Given the description of an element on the screen output the (x, y) to click on. 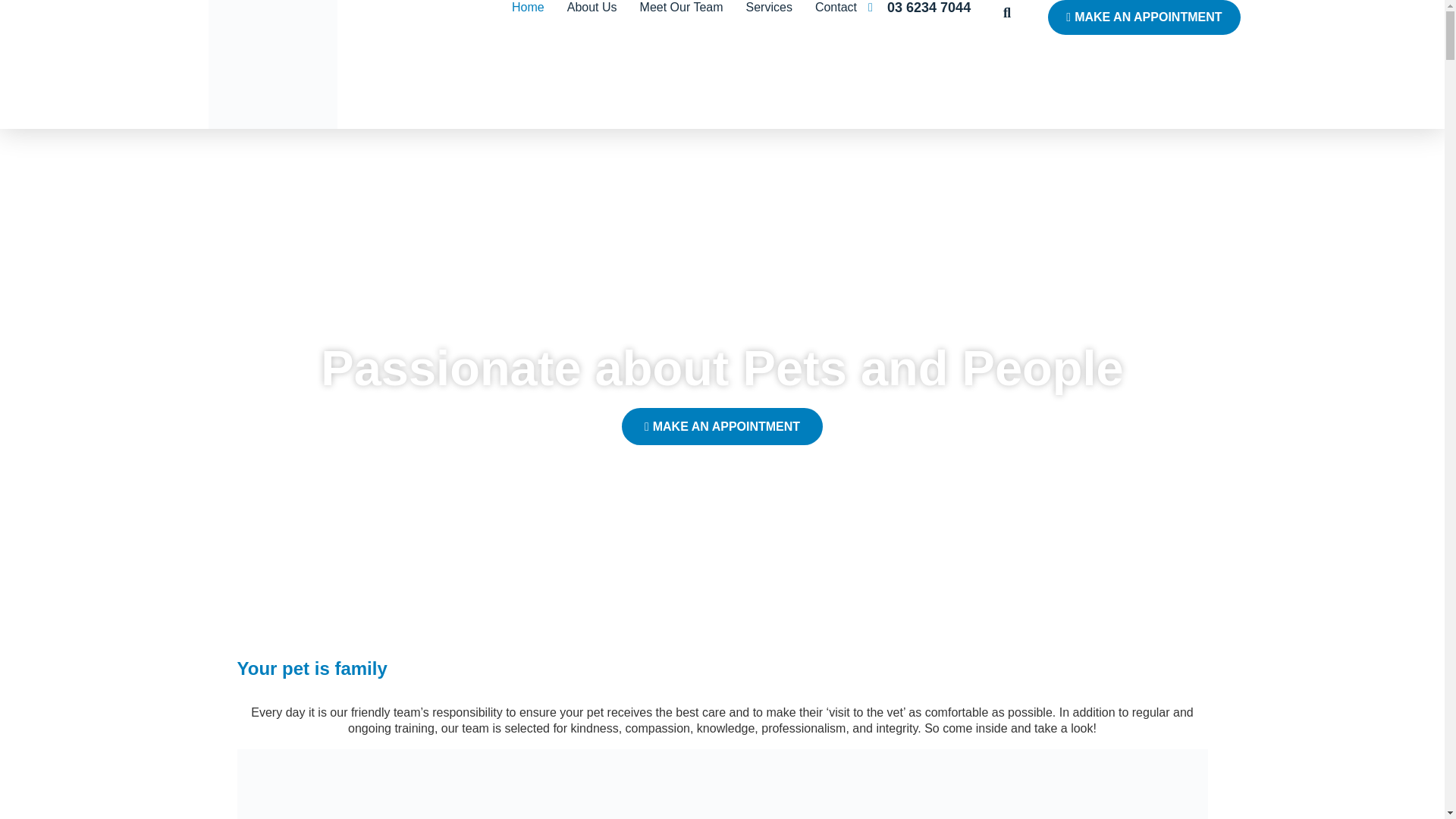
Contact Element type: text (835, 7)
03 6234 7044 Element type: text (927, 7)
MAKE AN APPOINTMENT Element type: text (1143, 17)
Services Element type: text (768, 7)
About Us Element type: text (591, 7)
Home Element type: text (527, 7)
MAKE AN APPOINTMENT Element type: text (721, 426)
Meet Our Team Element type: text (681, 7)
